Given the description of an element on the screen output the (x, y) to click on. 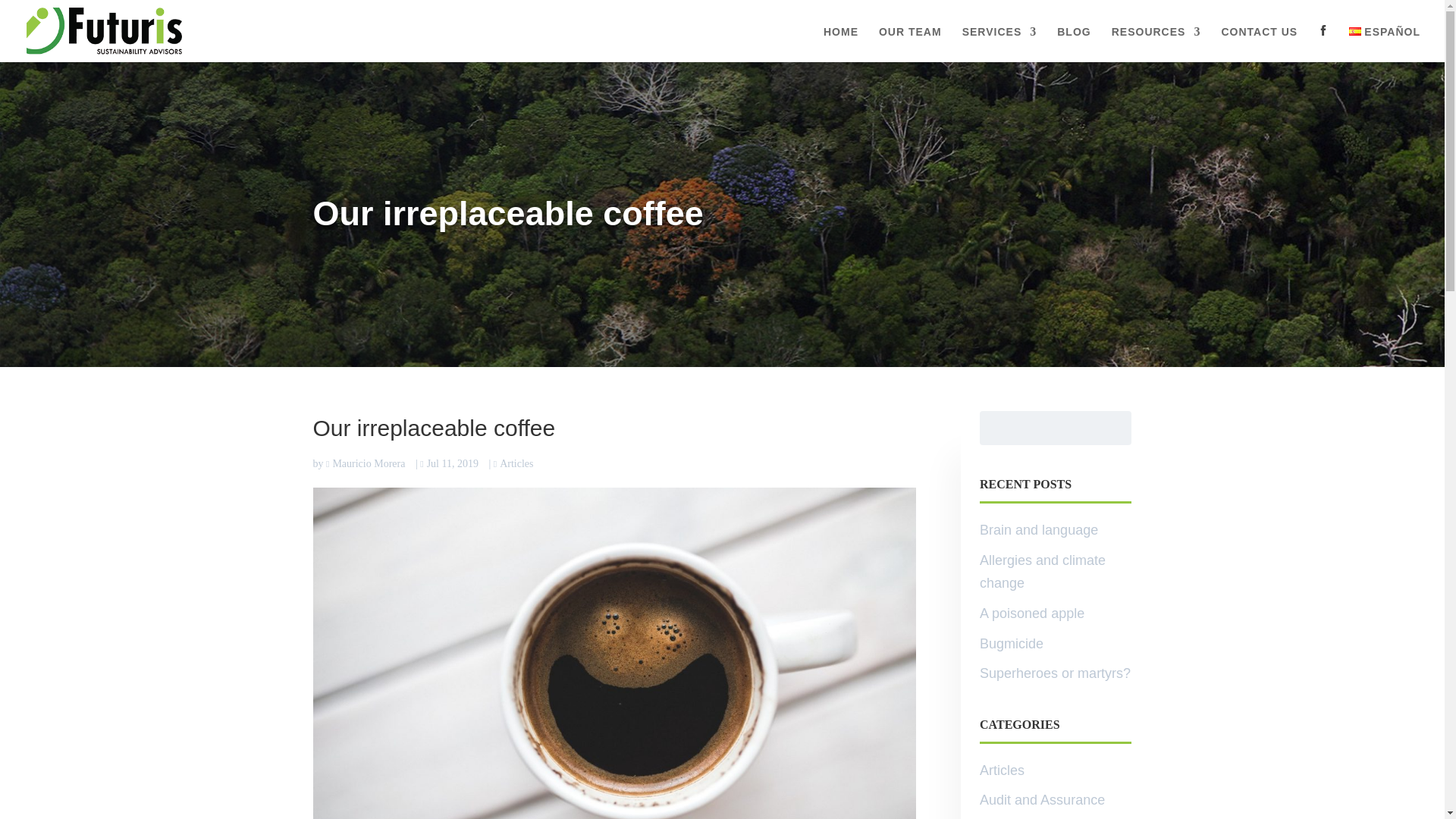
Mauricio Morera (365, 463)
Bugmicide (1011, 643)
Facebook (1322, 30)
Brain and language (1038, 529)
HOME (841, 44)
BLOG (1073, 44)
A poisoned apple (1031, 613)
SERVICES (999, 44)
OUR TEAM (910, 44)
Allergies and climate change (1042, 571)
Posts by Mauricio Morera (365, 463)
CONTACT US (1259, 44)
Search (1114, 428)
Superheroes or martyrs? (1055, 672)
Articles (513, 463)
